Given the description of an element on the screen output the (x, y) to click on. 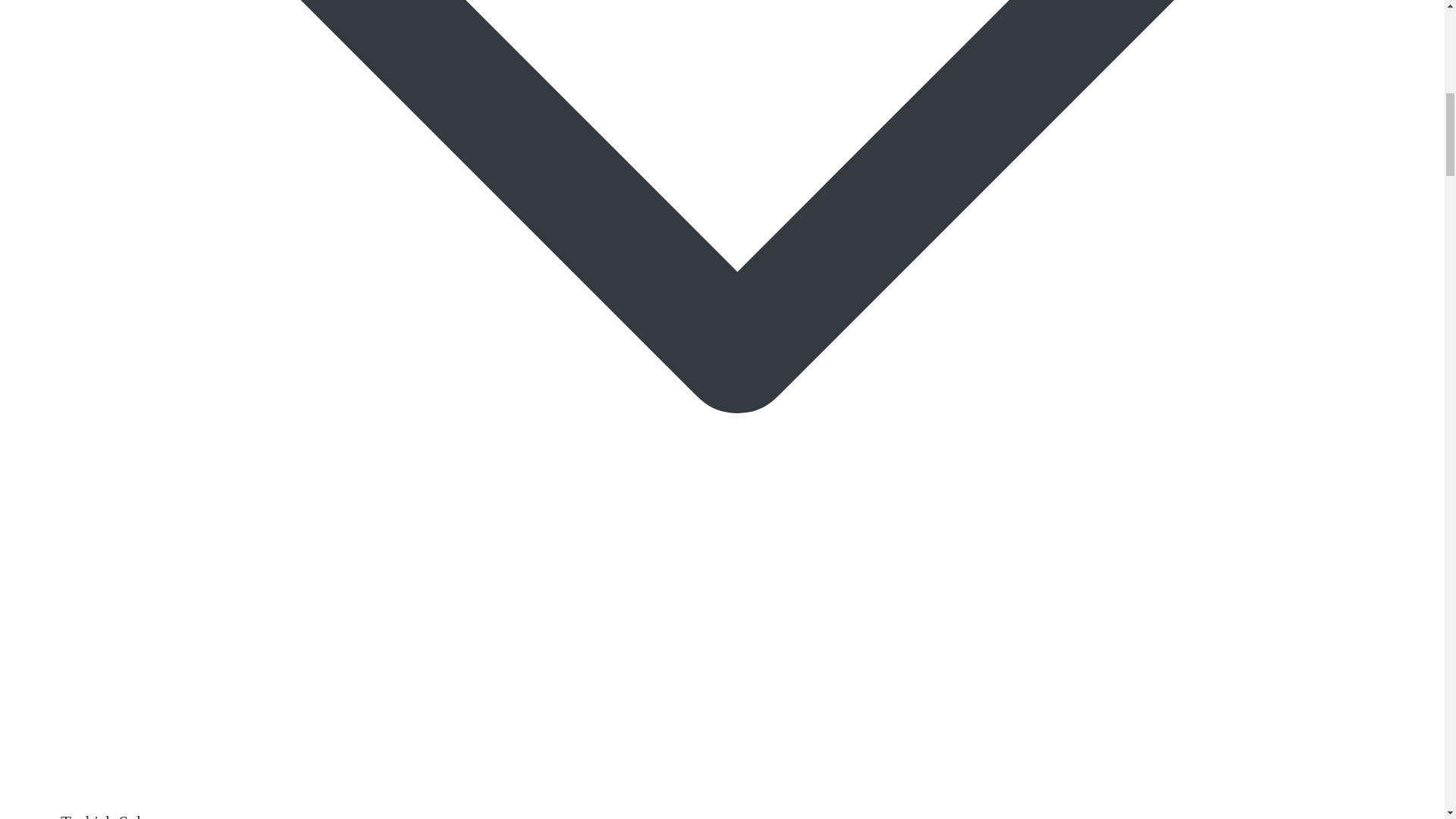
Turkish Salmon (116, 815)
